Given the description of an element on the screen output the (x, y) to click on. 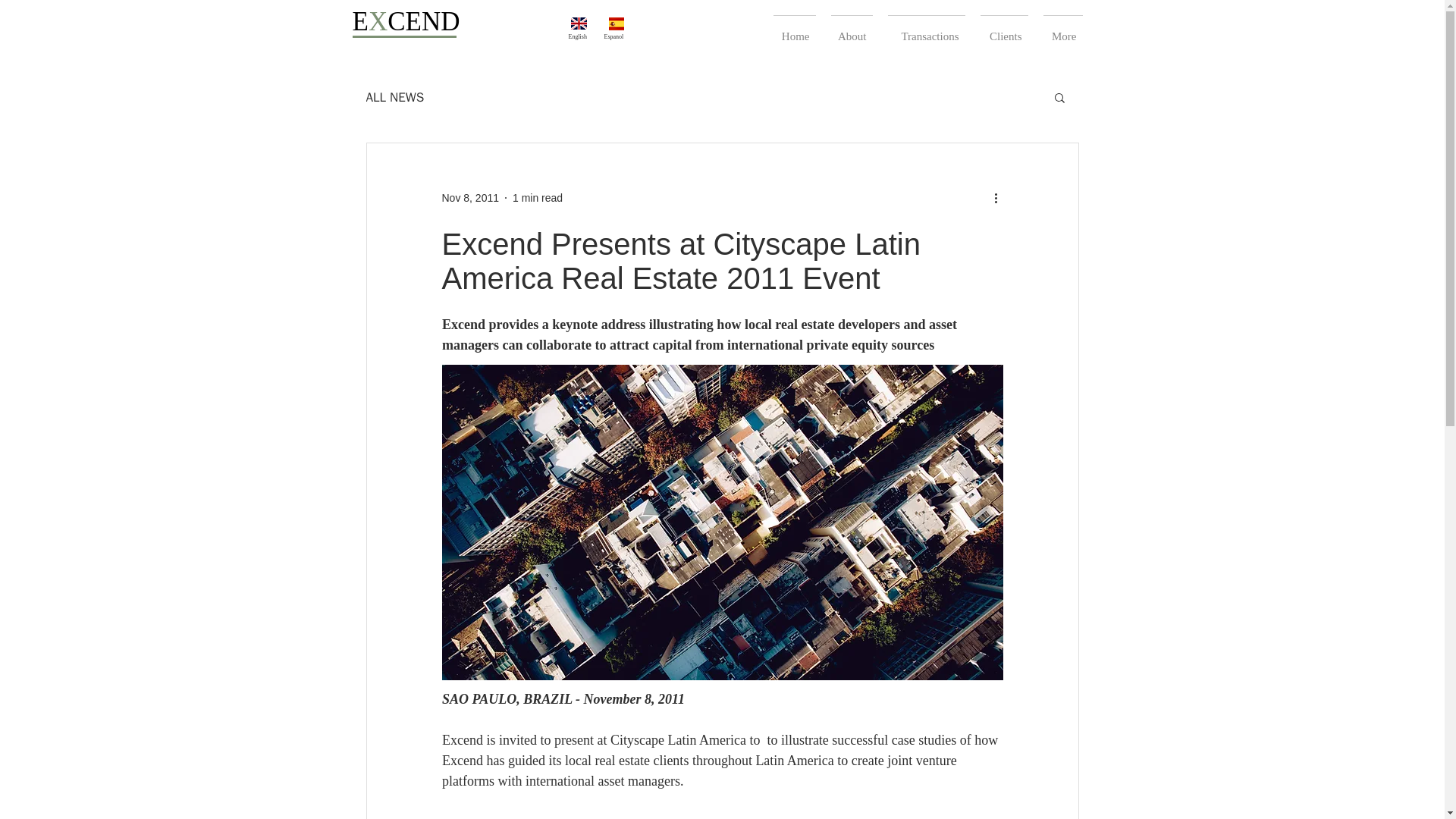
Clients (1003, 29)
1 min read (537, 196)
About (852, 29)
ALL NEWS (394, 96)
EXCEND (406, 20)
Nov 8, 2011 (470, 196)
Home (794, 29)
Transactions (925, 29)
